Given the description of an element on the screen output the (x, y) to click on. 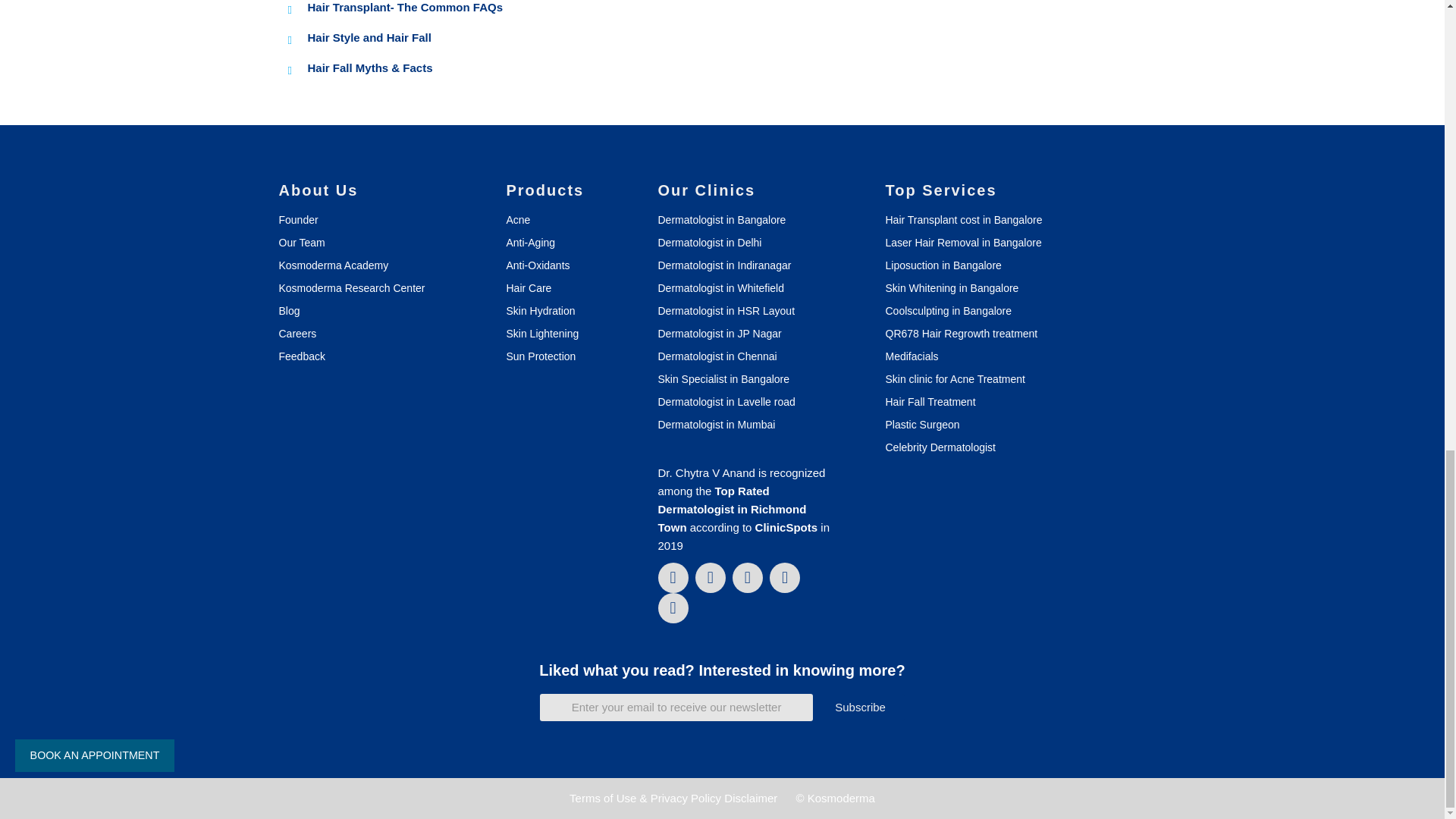
Subscribe (859, 707)
option5 (18, 152)
